Given the description of an element on the screen output the (x, y) to click on. 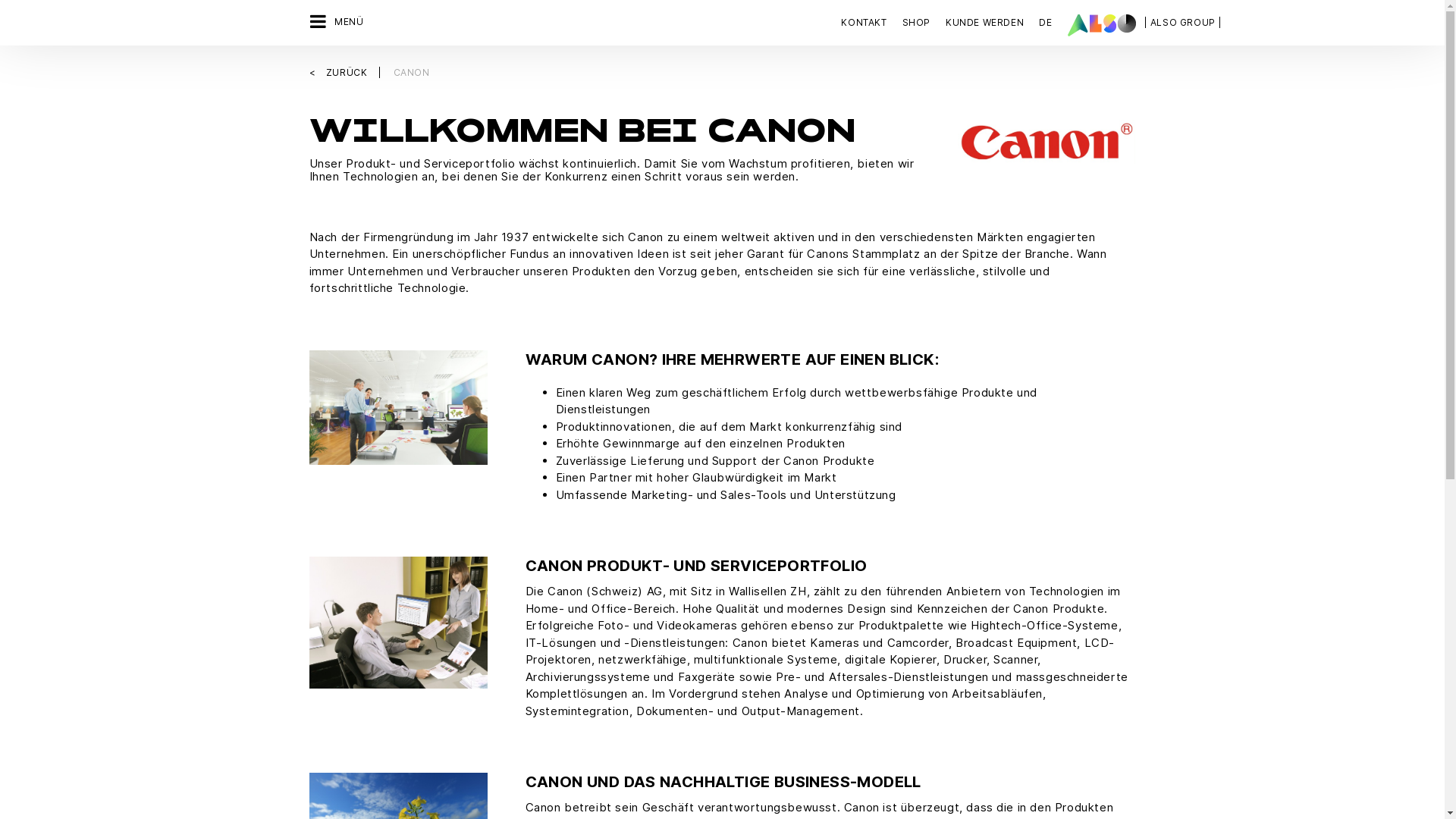
KUNDE WERDEN Element type: text (984, 22)
SHOP Element type: text (916, 22)
ALSO Schweiz AG Element type: hover (1101, 24)
DE Element type: text (1045, 22)
KONTAKT Element type: text (867, 22)
| ALSO GROUP | Element type: text (1182, 22)
